Given the description of an element on the screen output the (x, y) to click on. 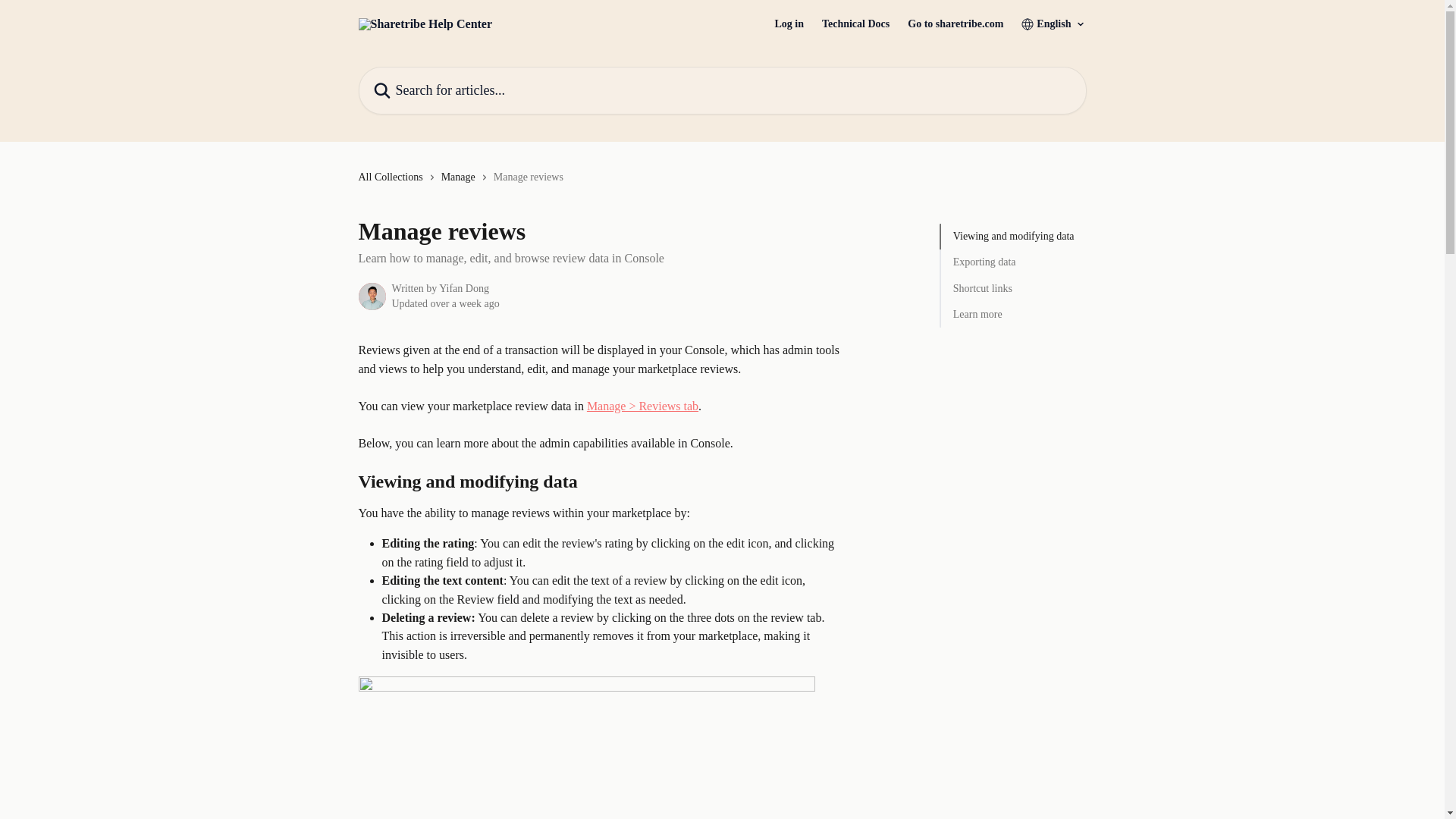
Manage (461, 176)
Log in (788, 23)
Viewing and modifying data (1013, 236)
Go to sharetribe.com (955, 23)
Shortcut links (1013, 288)
Technical Docs (855, 23)
Learn more (1013, 314)
All Collections (393, 176)
Exporting data (1013, 262)
